Given the description of an element on the screen output the (x, y) to click on. 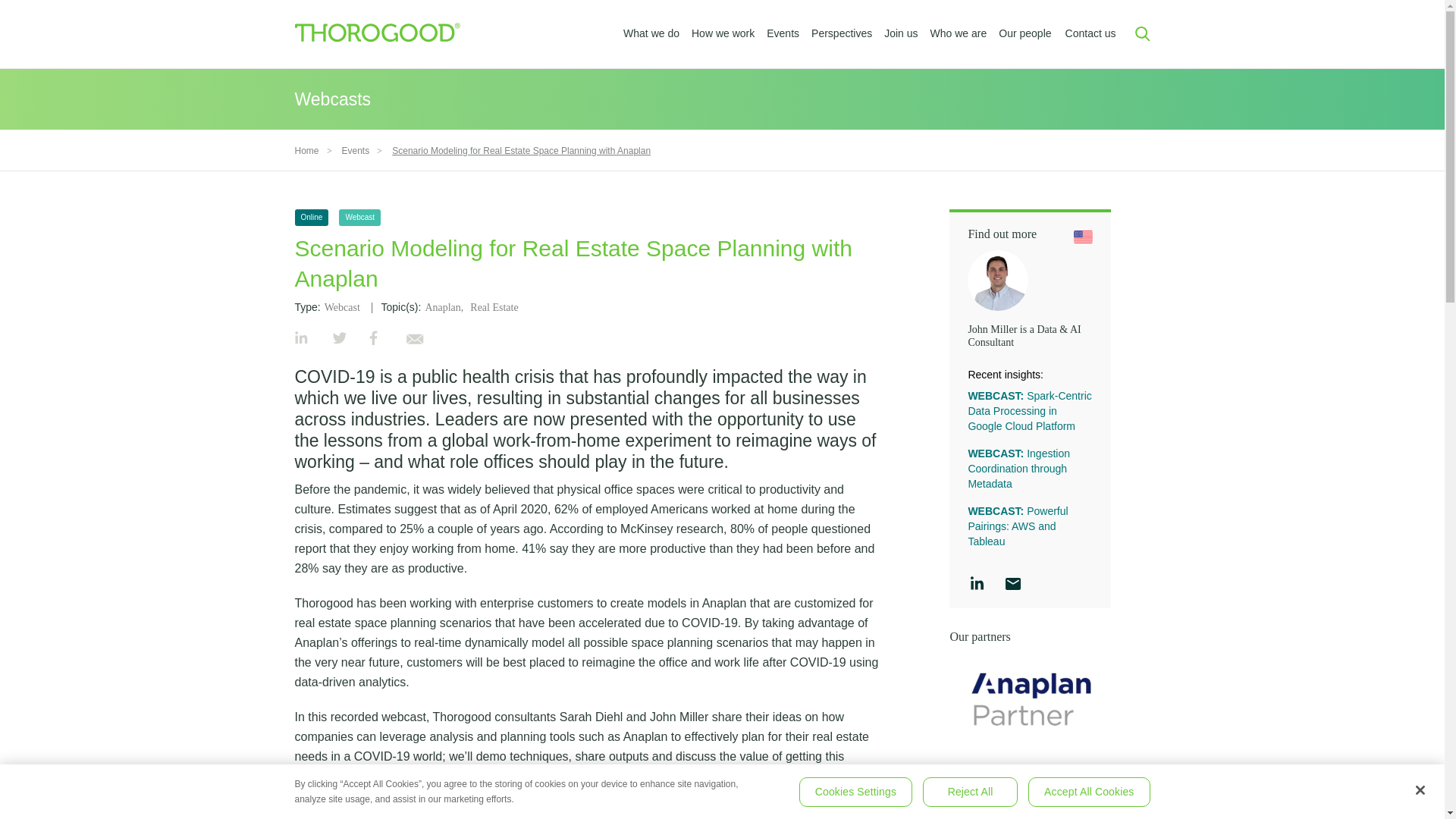
WEBCAST: Powerful Pairings: AWS and Tableau (1017, 526)
Events (355, 150)
Perspectives (841, 33)
Who we are (958, 33)
Join us (900, 33)
Share on LinkedIn (300, 339)
What we do (651, 33)
Real Estate Modeling with Anaplan (585, 814)
Share on Twitter (339, 339)
Our people (1024, 33)
Events (783, 33)
Contact us (1090, 33)
